Given the description of an element on the screen output the (x, y) to click on. 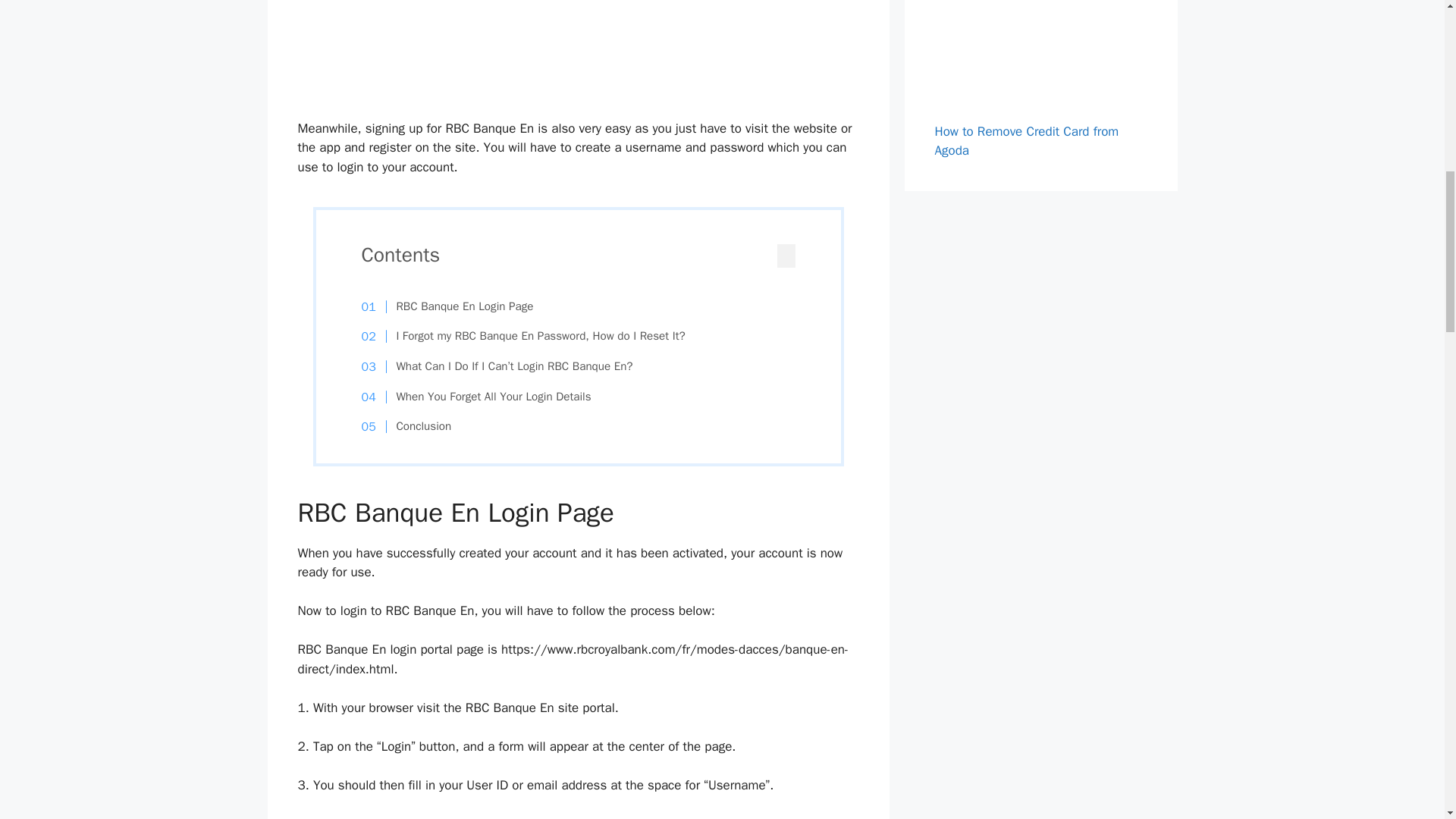
I Forgot my RBC Banque En Password, How do I Reset It? (530, 336)
When You Forget All Your Login Details (484, 397)
How to Remove Credit Card from Agoda (1026, 140)
Conclusion (414, 426)
RBC Banque En Login Page (454, 307)
